Given the description of an element on the screen output the (x, y) to click on. 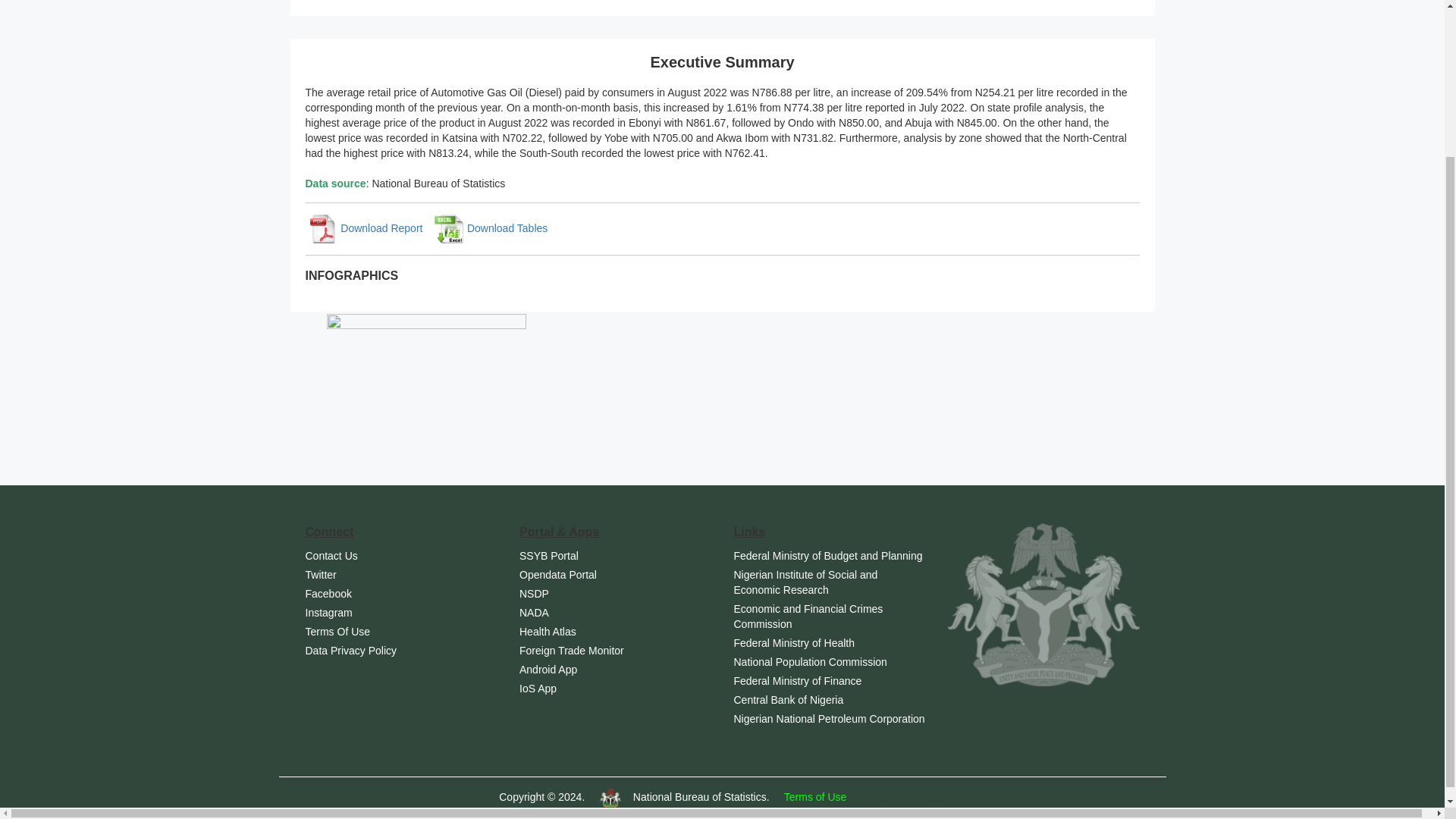
download (364, 227)
download (490, 227)
